Given the description of an element on the screen output the (x, y) to click on. 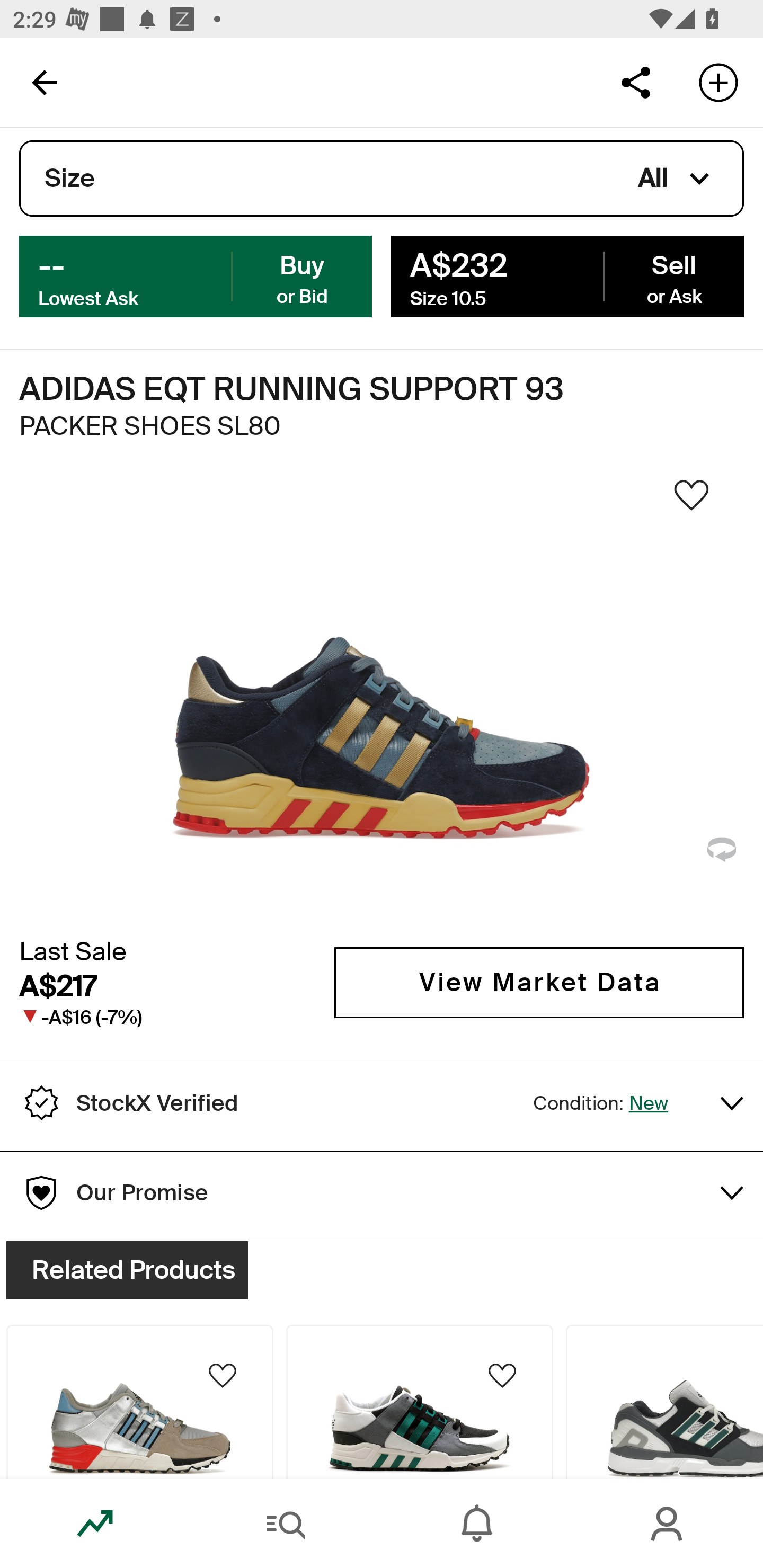
Share (635, 81)
Add (718, 81)
Size All (381, 178)
-- Buy Lowest Ask or Bid (195, 275)
A$232 Sell Size 10.5 or Ask (566, 275)
Sneaker Image (381, 699)
View Market Data (538, 982)
Product Image (139, 1401)
Product Image (419, 1401)
Product Image (664, 1401)
Search (285, 1523)
Inbox (476, 1523)
Account (667, 1523)
